Given the description of an element on the screen output the (x, y) to click on. 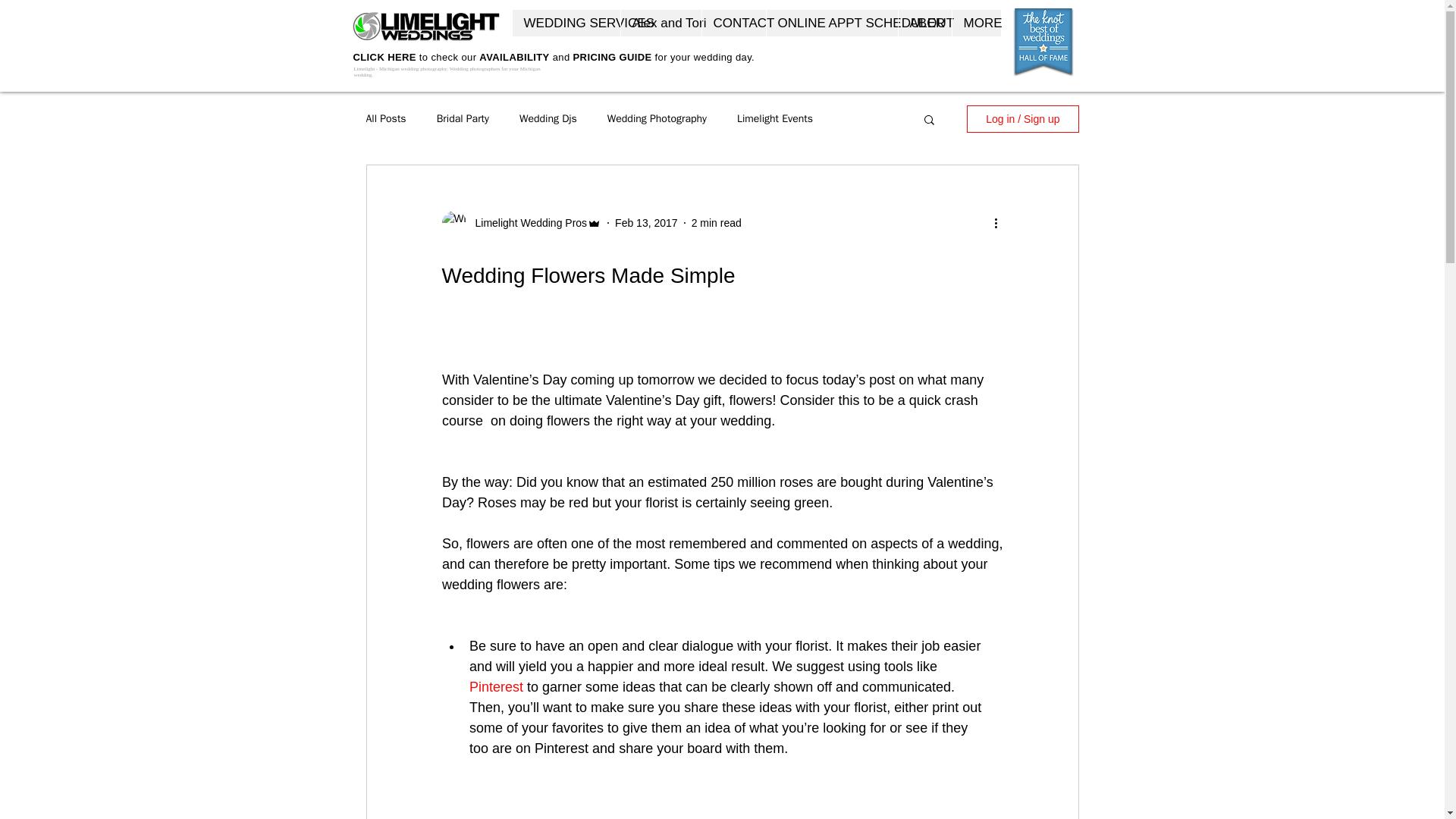
Bridal Party (462, 119)
ABOUT (925, 22)
2 min read (716, 223)
Viewing pricing guide (381, 84)
Alex and Tori (660, 22)
WEDDING SERVICES (566, 22)
Wedding Djs (547, 119)
CONTACT (732, 22)
Feb 13, 2017 (646, 223)
Limelight Wedding Pros (525, 222)
